Given the description of an element on the screen output the (x, y) to click on. 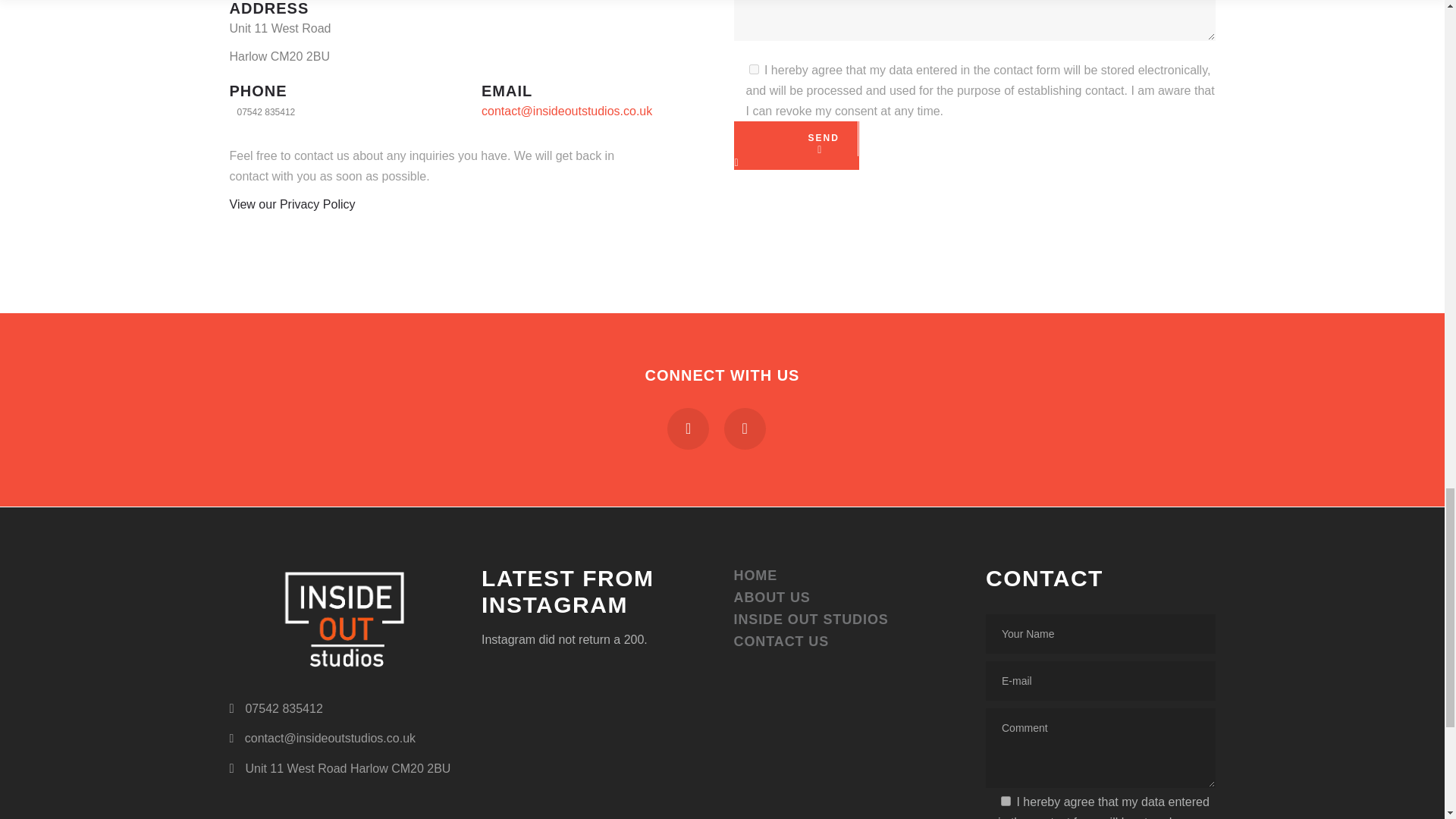
Send (795, 145)
View our Privacy Policy (291, 204)
CONTACT US (781, 641)
Unit 11 West Road Harlow CM20 2BU (338, 767)
Send (795, 145)
INSIDE OUT STUDIOS (810, 619)
07542 835412 (261, 111)
Unit 11 West Road (279, 28)
